Given the description of an element on the screen output the (x, y) to click on. 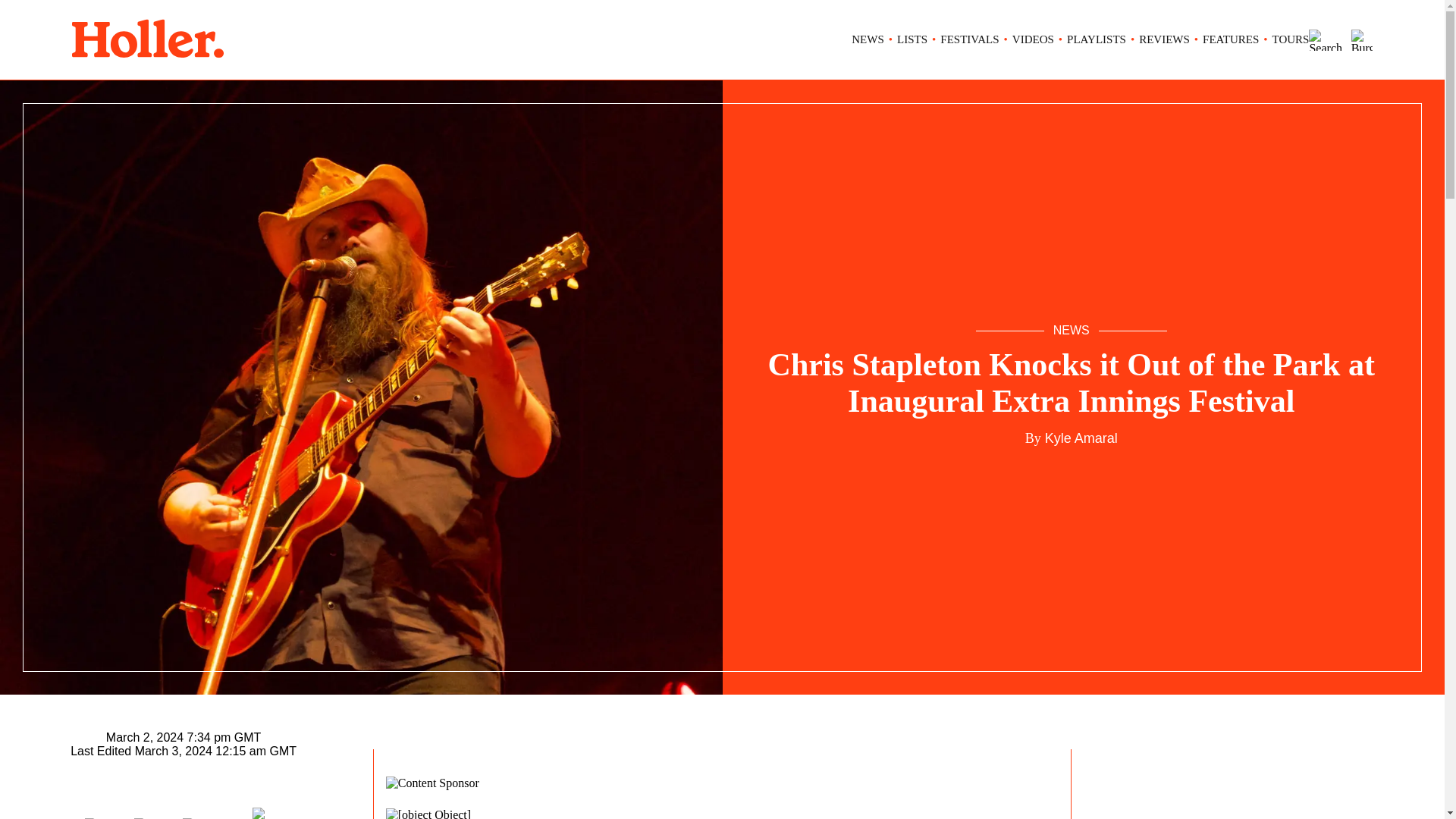
VIDEOS (1032, 39)
PLAYLISTS (1096, 39)
FEATURES (1230, 39)
FESTIVALS (969, 39)
REVIEWS (1163, 39)
NEWS (867, 39)
TOURS (1290, 39)
Kyle Amaral (1079, 437)
LISTS (911, 39)
